Given the description of an element on the screen output the (x, y) to click on. 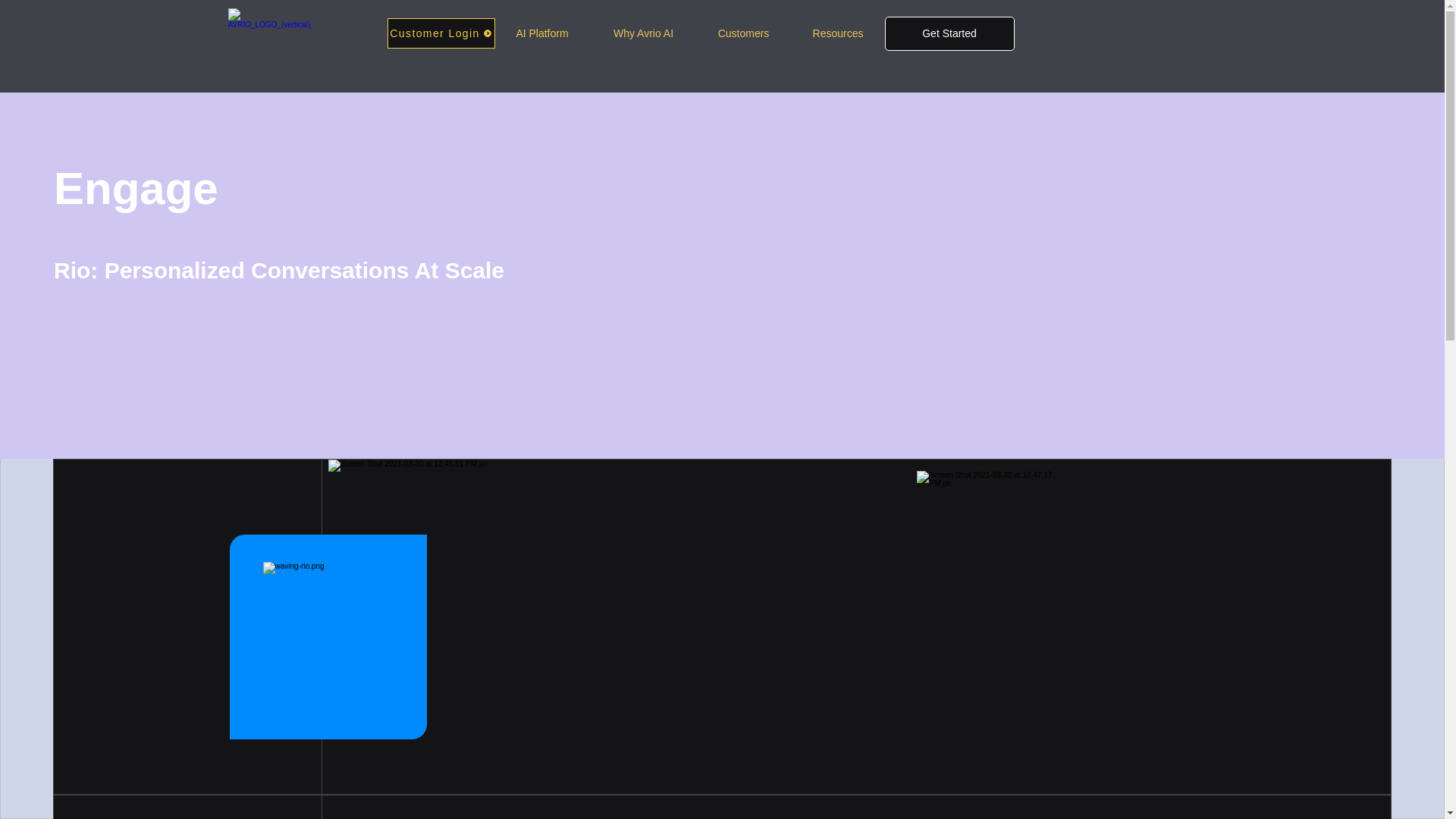
Resources (838, 33)
Get Started (948, 33)
Why Avrio AI (643, 33)
Customers (743, 33)
AI Platform (542, 33)
Customer Login (441, 33)
